Given the description of an element on the screen output the (x, y) to click on. 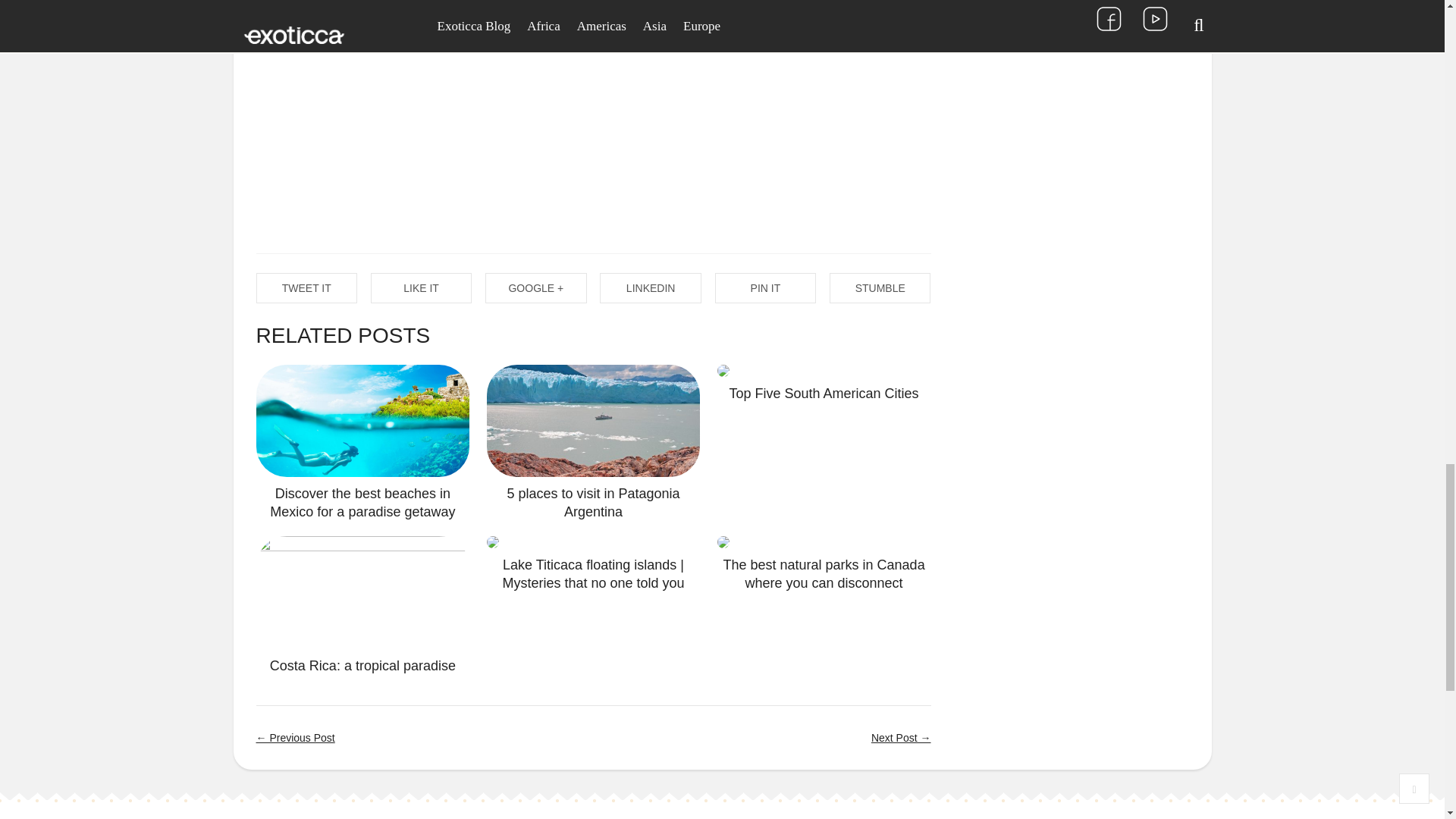
Top Five South American Cities (824, 370)
PIN IT (765, 287)
Costa Rica: a tropical paradise (362, 665)
5 places to visit in Patagonia Argentina (593, 420)
5 places to visit in Patagonia Argentina (592, 502)
Discover the best beaches in Mexico for a paradise getaway (361, 502)
Discover the best beaches in Mexico for a paradise getaway (363, 420)
Discover the best beaches in Mexico for a paradise getaway (361, 502)
TWEET IT (307, 287)
LIKE IT (421, 287)
STUMBLE (880, 287)
5 places to visit in Patagonia Argentina (592, 502)
LINKEDIN (650, 287)
Top Five South American Cities (823, 393)
